Given the description of an element on the screen output the (x, y) to click on. 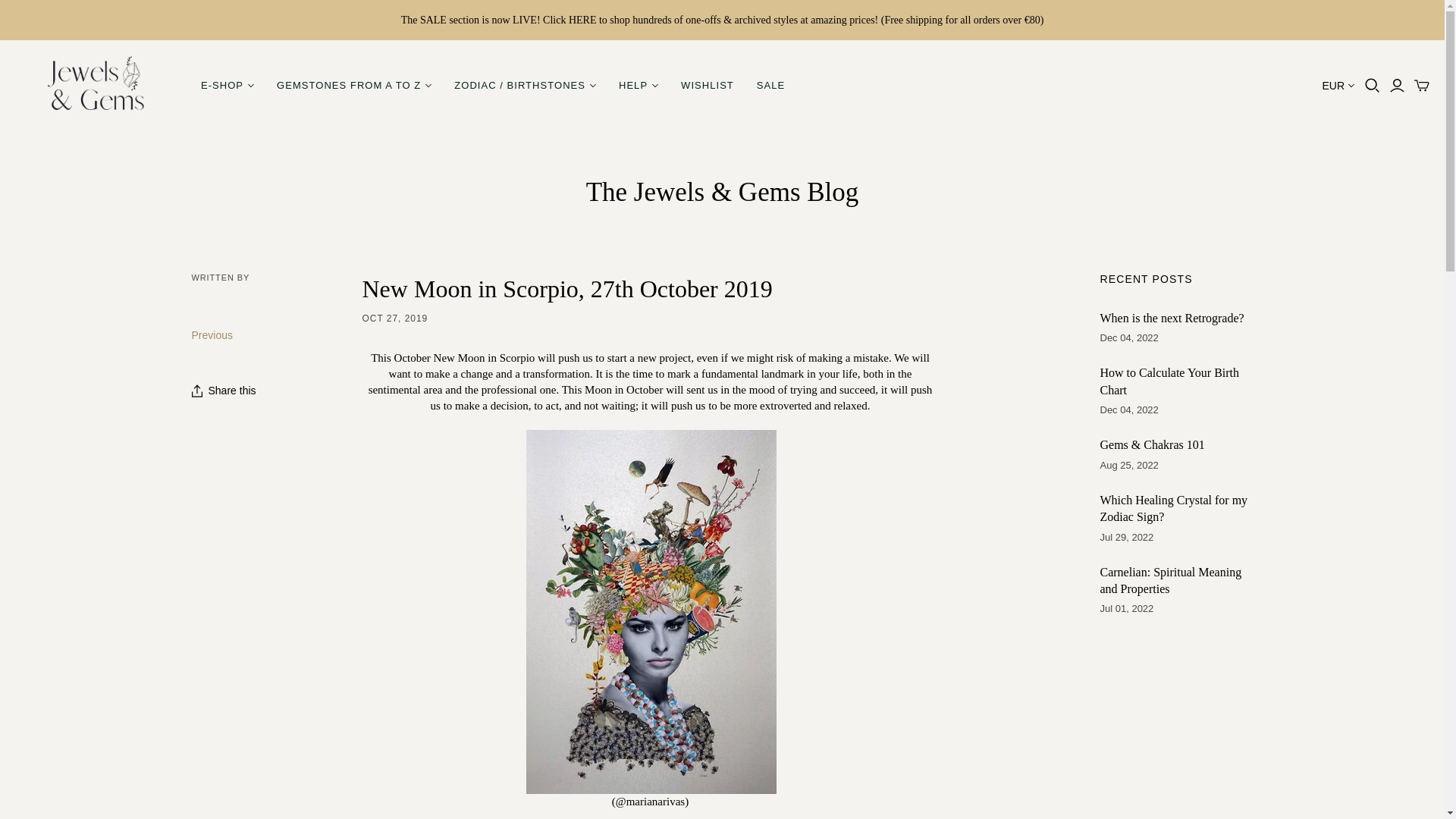
SALE (770, 85)
E-SHOP (226, 85)
GEMSTONES FROM A TO Z (353, 85)
WISHLIST (707, 85)
HELP (638, 85)
